Given the description of an element on the screen output the (x, y) to click on. 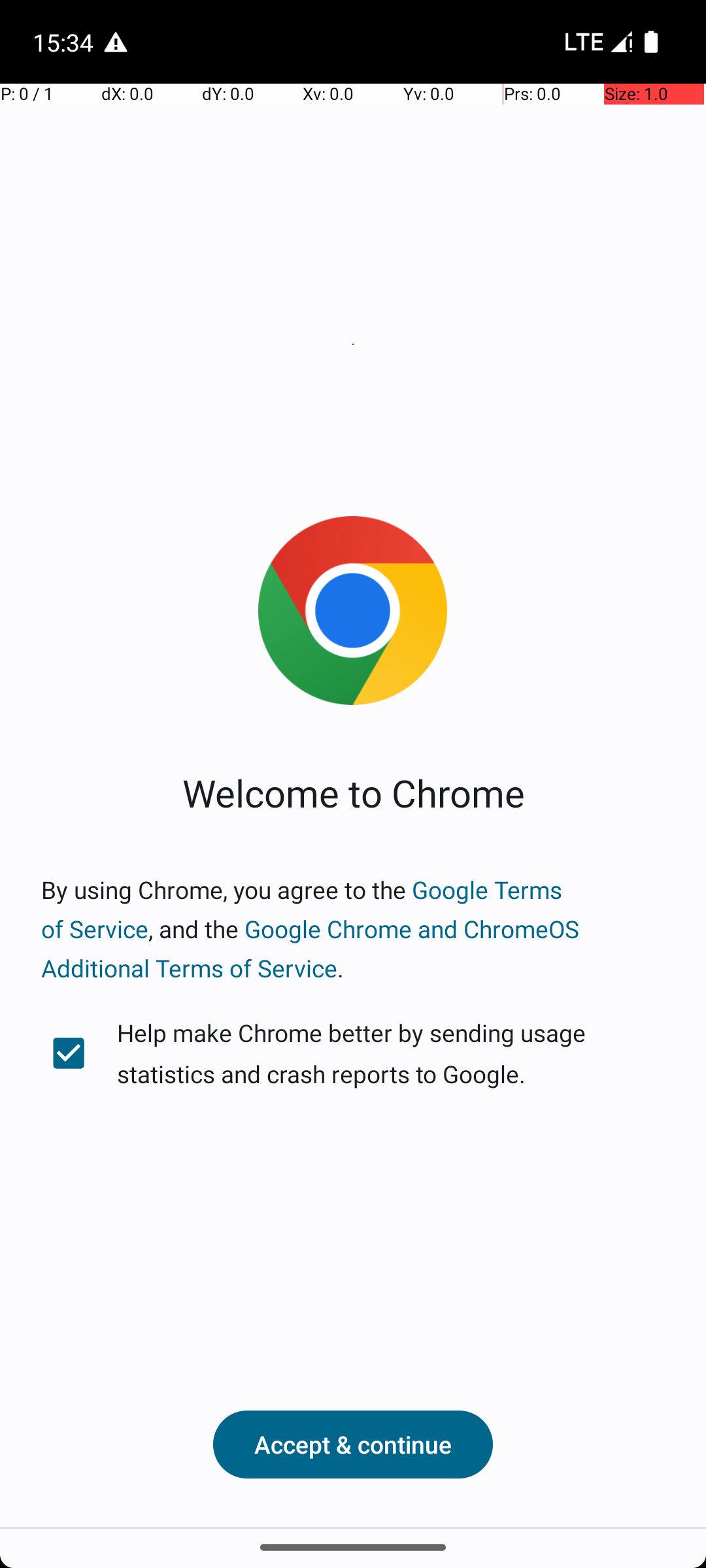
Accept & continue Element type: android.widget.Button (352, 1444)
By using Chrome, you agree to the Google Terms of Service, and the Google Chrome and ChromeOS Additional Terms of Service. Element type: android.widget.TextView (352, 928)
Help make Chrome better by sending usage statistics and crash reports to Google. Element type: android.widget.CheckBox (352, 1053)
